Given the description of an element on the screen output the (x, y) to click on. 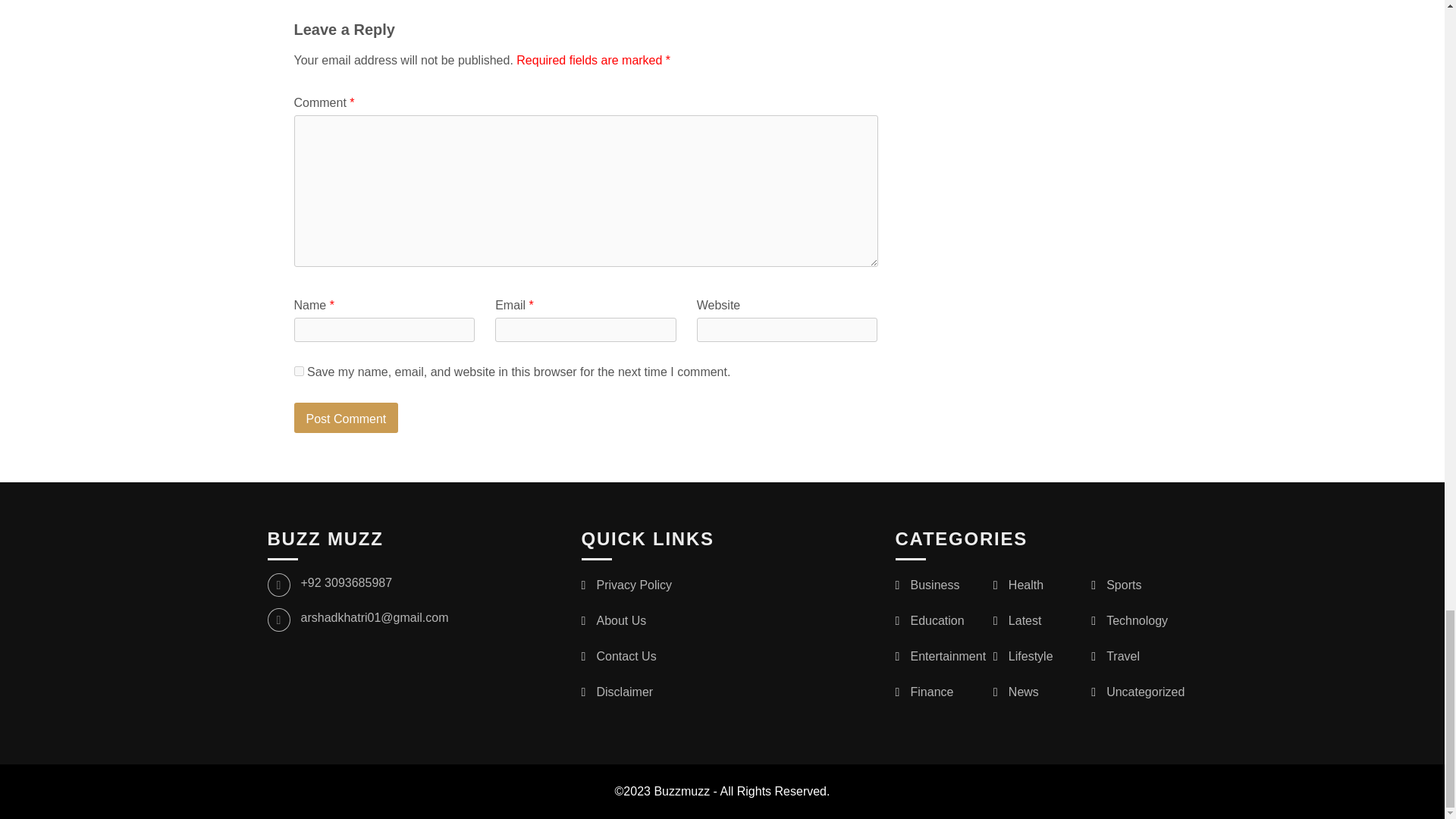
Post Comment (346, 417)
Post Comment (346, 417)
yes (299, 370)
Privacy Policy (633, 584)
